Given the description of an element on the screen output the (x, y) to click on. 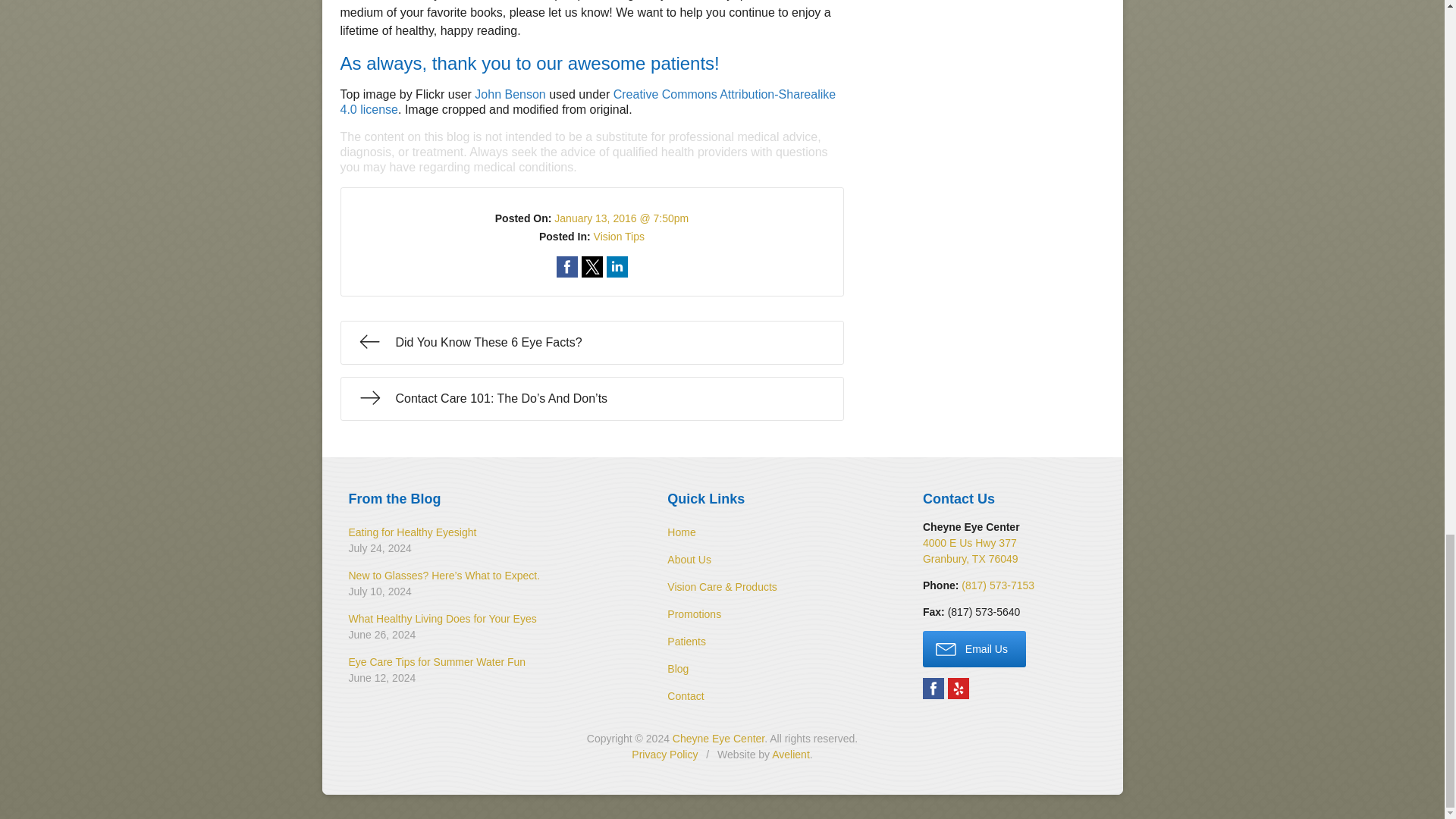
John Benson (509, 93)
Share on Facebook (567, 266)
Open this address in Google Maps (970, 551)
Did You Know These 6 Eye Facts? (591, 342)
Share on LinkedIn (617, 266)
Share on LinkedIn (617, 266)
Powered by Avelient (790, 754)
Contact practice (996, 585)
Share on Facebook (567, 266)
Creative Commons Attribution-Sharealike 4.0 license (587, 101)
